Given the description of an element on the screen output the (x, y) to click on. 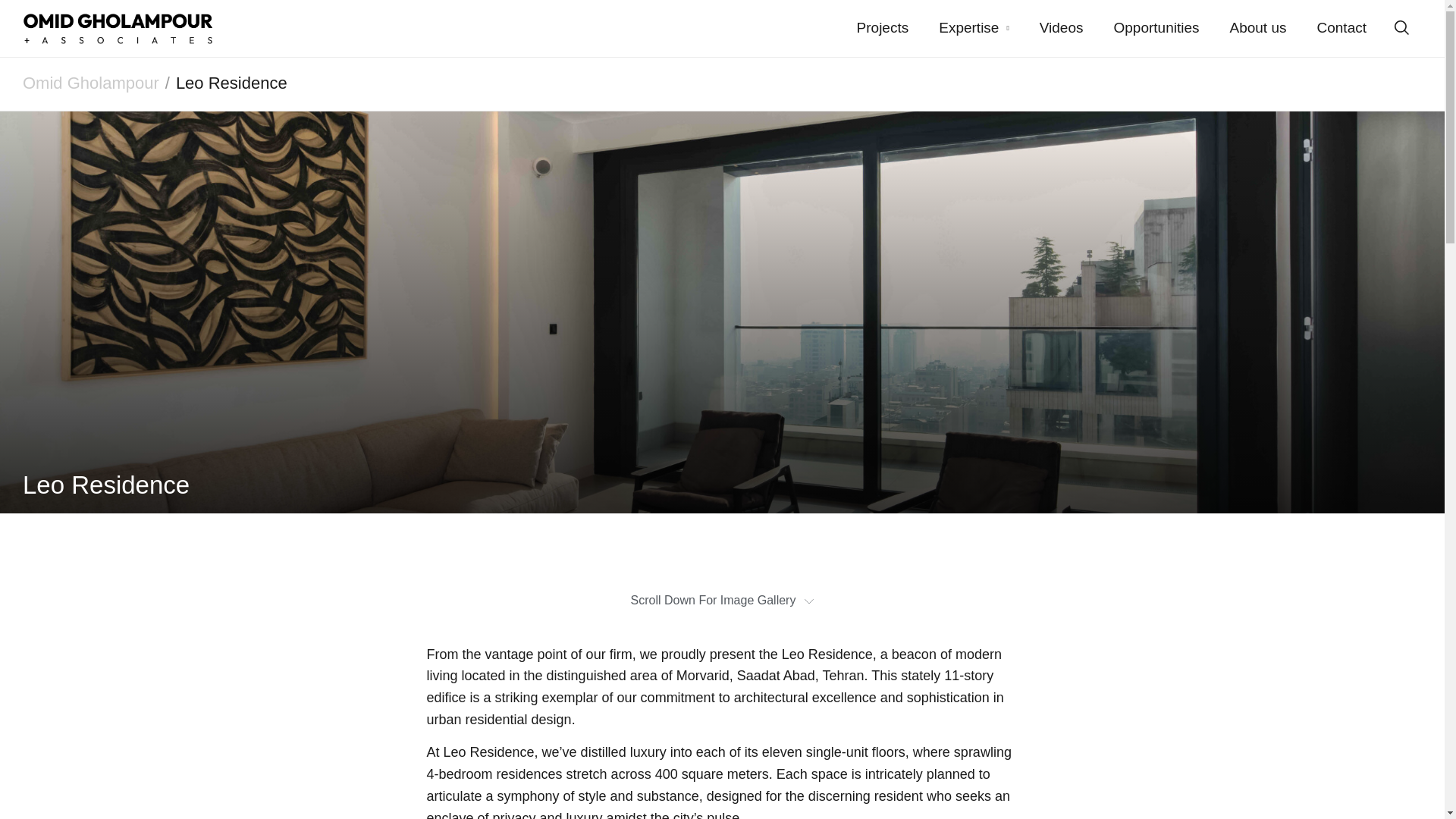
Projects (882, 27)
Opportunities (1155, 27)
Contact (1340, 27)
About us (1257, 27)
Omid Gholampour (90, 82)
Scroll Down For Image Gallery (721, 612)
Videos (1062, 27)
Expertise (974, 27)
